Given the description of an element on the screen output the (x, y) to click on. 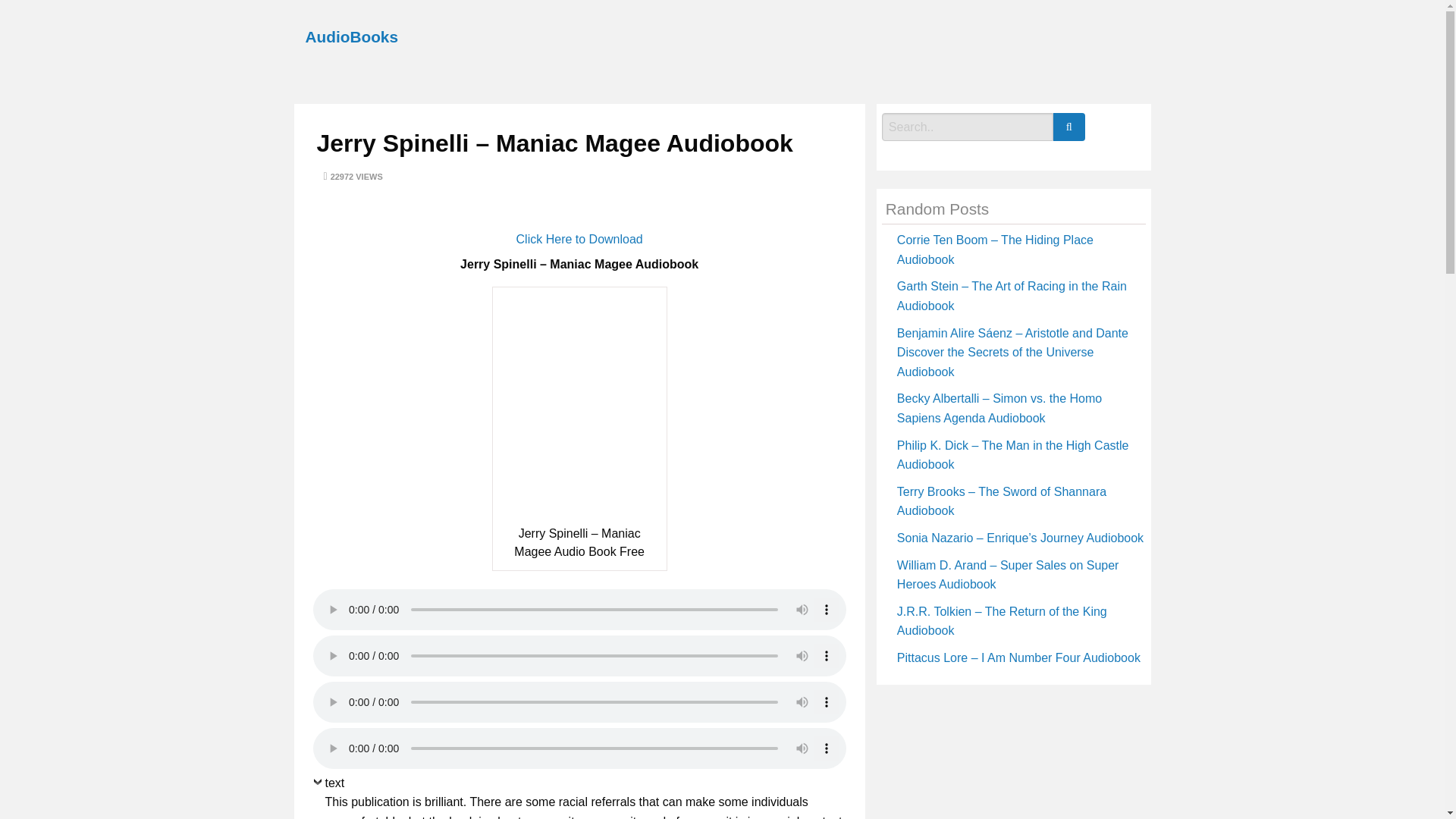
Click Here to Download (579, 238)
AudioBooks (350, 36)
text (328, 786)
